Given the description of an element on the screen output the (x, y) to click on. 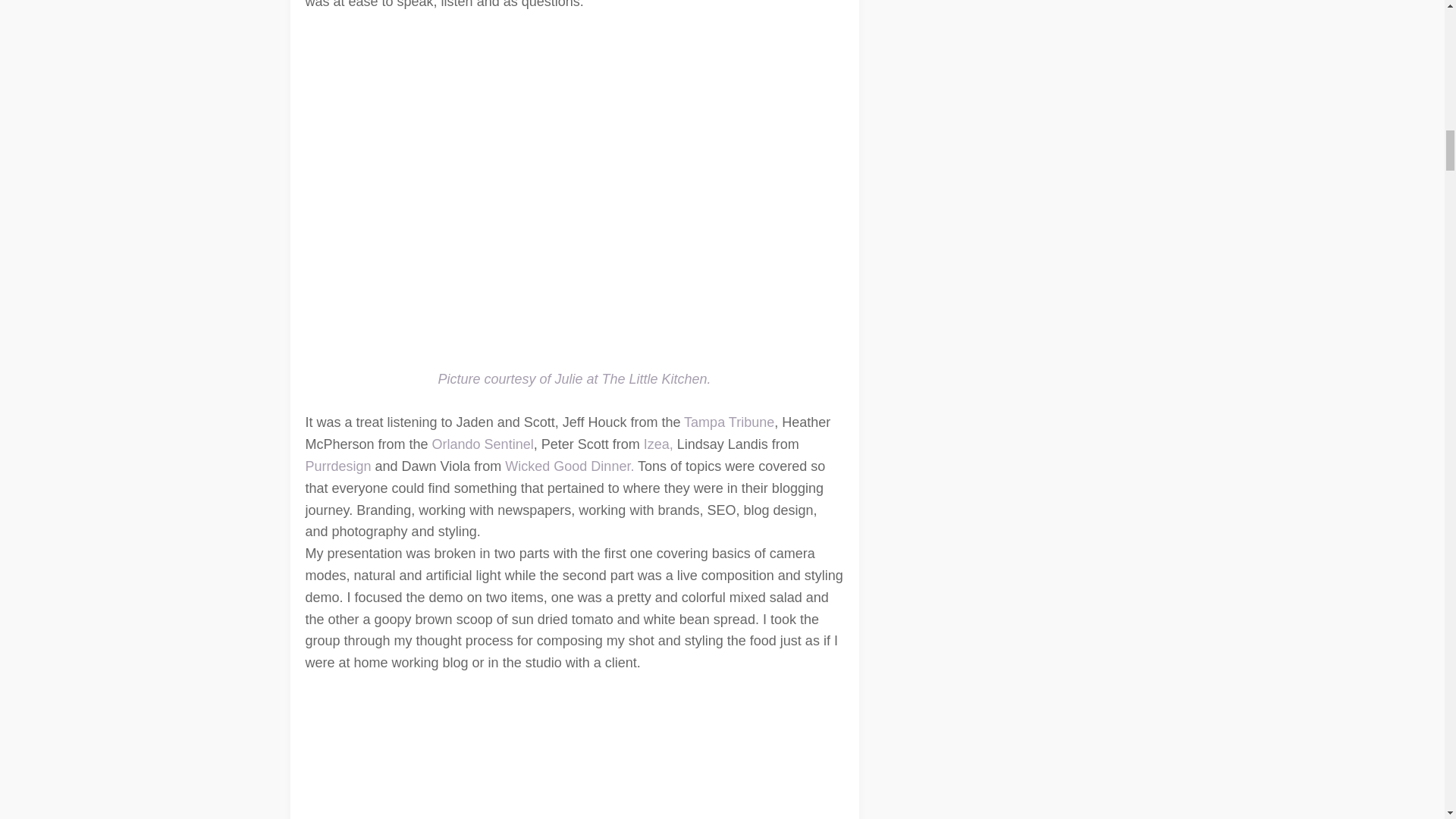
Orlando Sentinel (483, 444)
Wicked Good Dinner. (569, 466)
Food Blog Forum Orlando by tartelette, on Flickr (573, 753)
Purrdesign (339, 466)
Picture courtesy of Julie at The Little Kitchen. (574, 378)
Tampa Tribune (726, 421)
Izea, (656, 444)
